Given the description of an element on the screen output the (x, y) to click on. 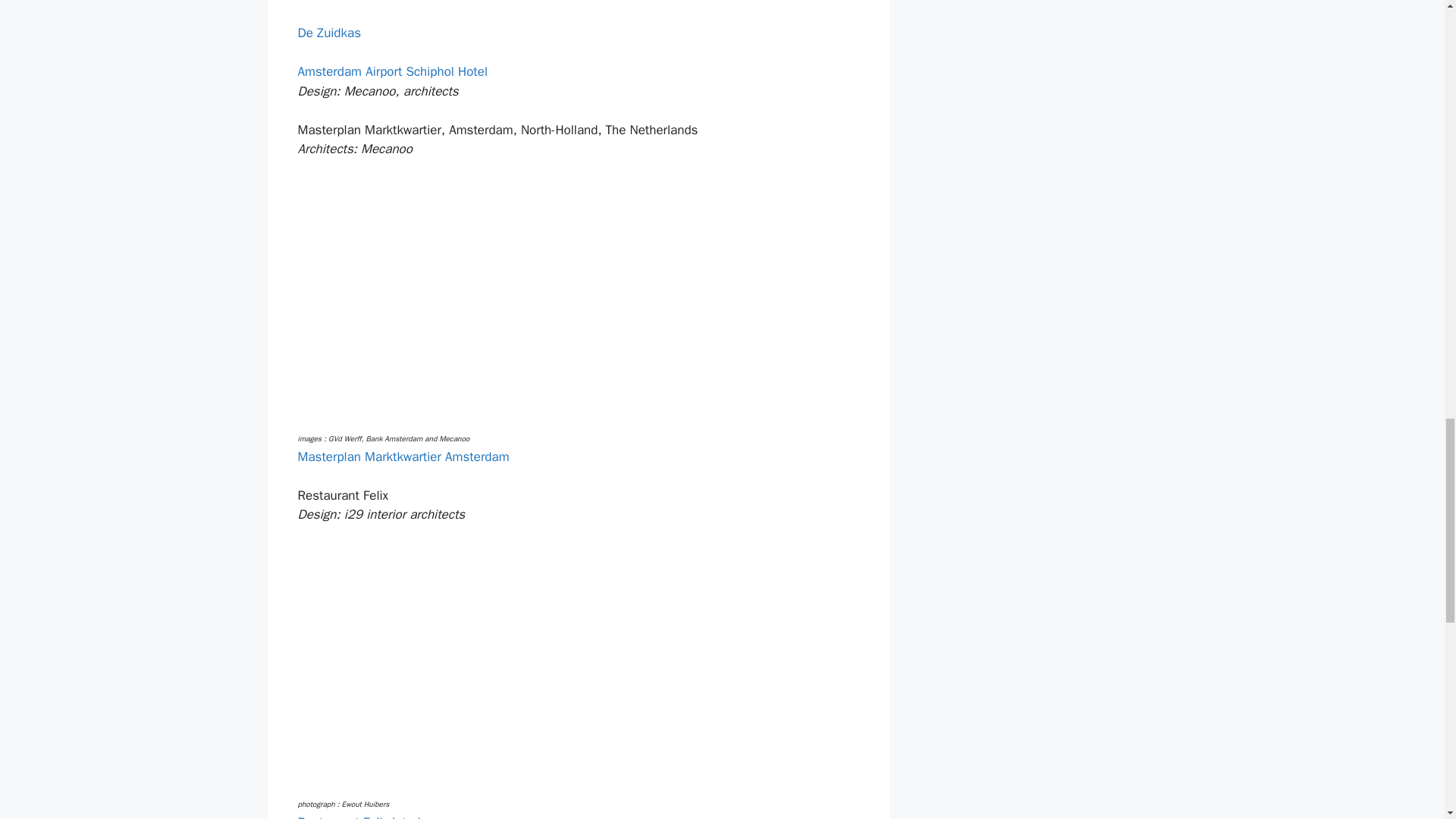
Amsterdam Architecture Tours (382, 1)
Restaurant Felix Interior (363, 816)
Masterplan Marktkwartier Amsterdam (402, 456)
De Zuidkas (329, 32)
Amsterdam Airport Schiphol Hotel (392, 71)
